Given the description of an element on the screen output the (x, y) to click on. 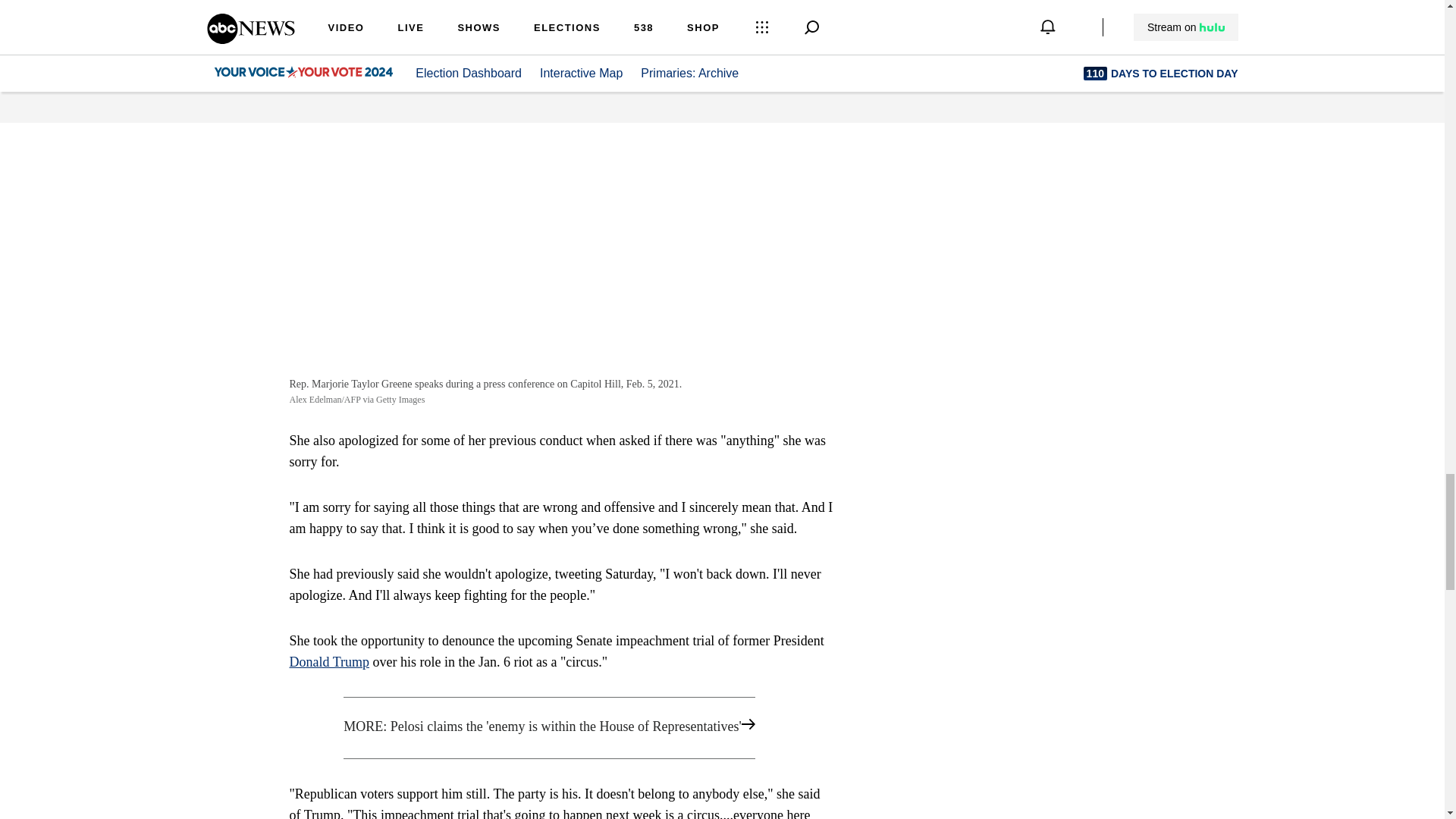
Donald Trump (329, 661)
